Given the description of an element on the screen output the (x, y) to click on. 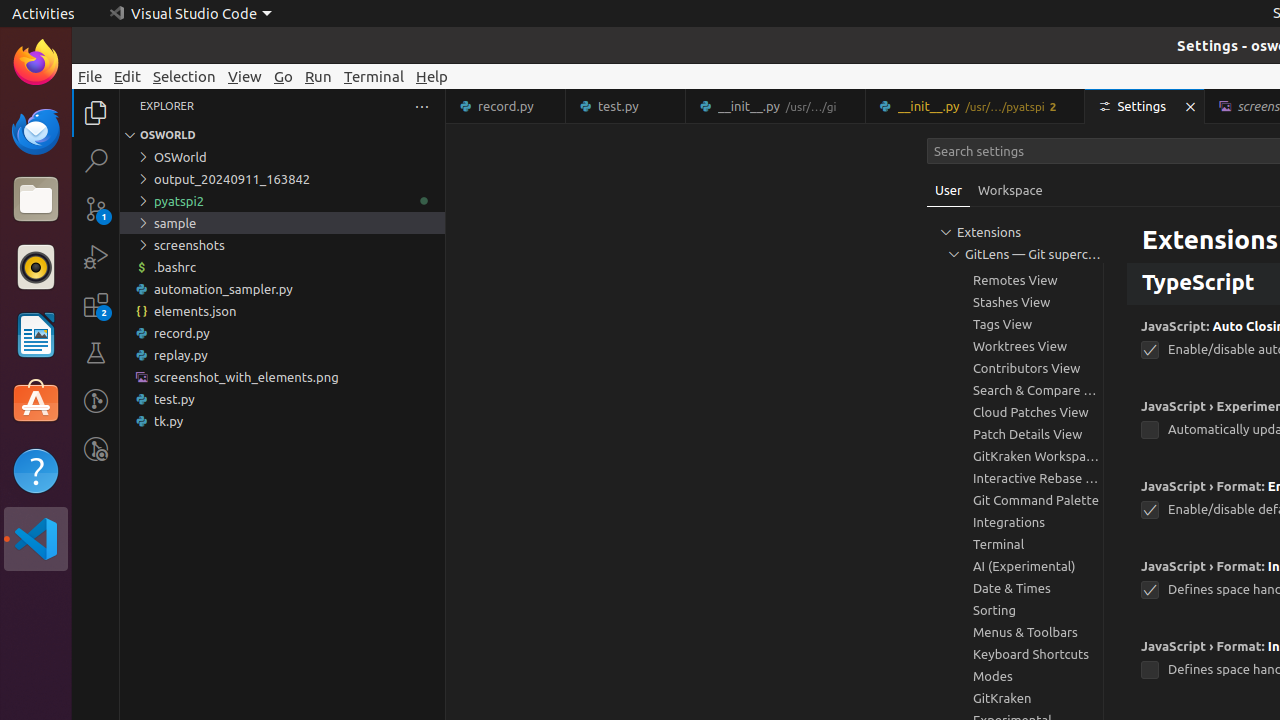
output_20240911_163842 Element type: tree-item (282, 179)
Remotes View, group Element type: tree-item (1015, 280)
File Element type: push-button (90, 76)
Menus & Toolbars, group Element type: tree-item (1015, 632)
